Given the description of an element on the screen output the (x, y) to click on. 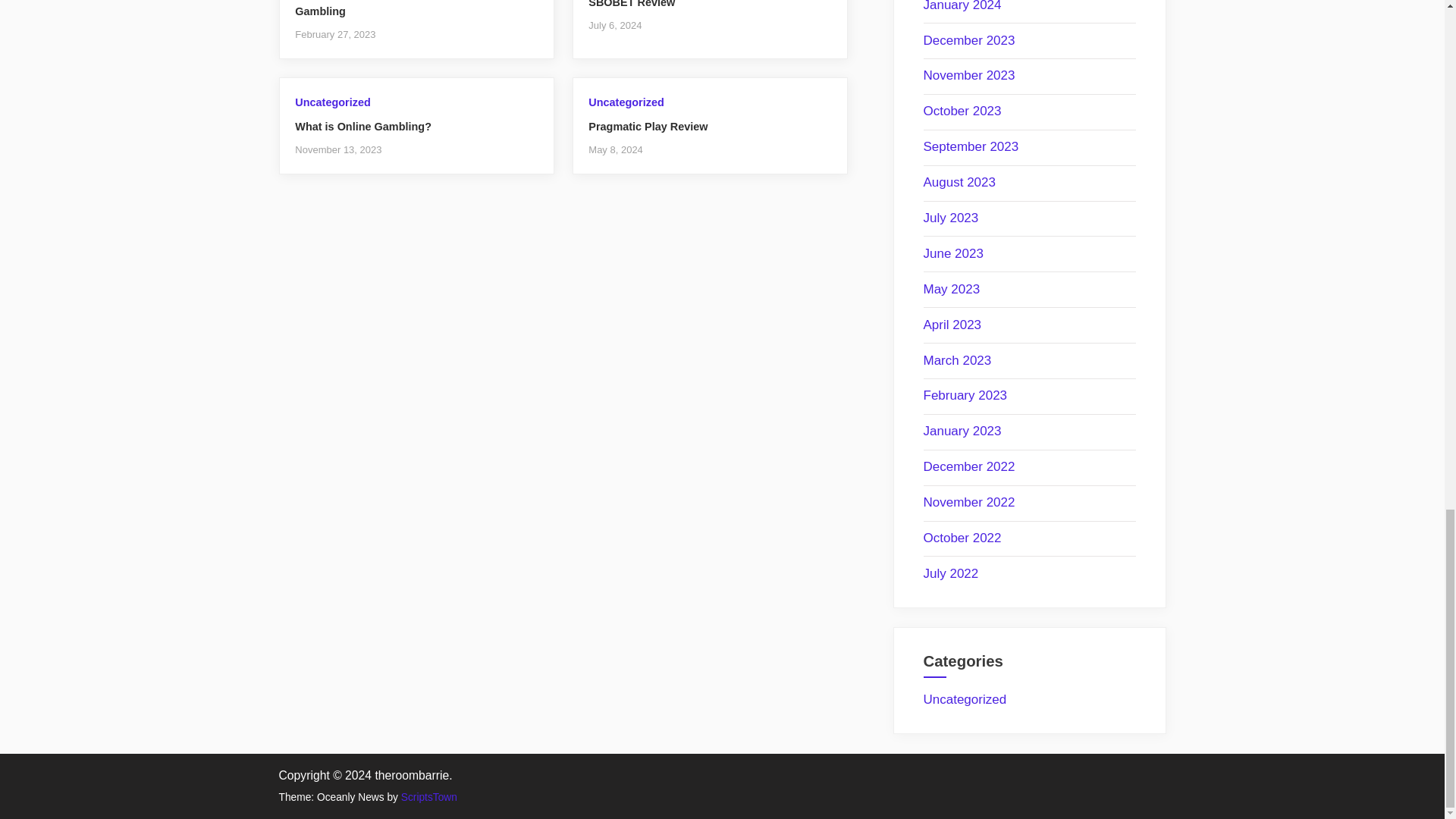
January 2024 (962, 6)
November 2023 (968, 74)
What You Need to Know About Online Gambling (393, 9)
October 2023 (962, 110)
August 2023 (959, 182)
Uncategorized (332, 102)
December 2023 (968, 40)
Pragmatic Play Review (647, 126)
What is Online Gambling? (362, 126)
Uncategorized (625, 102)
September 2023 (971, 146)
SBOBET Review (631, 4)
